Given the description of an element on the screen output the (x, y) to click on. 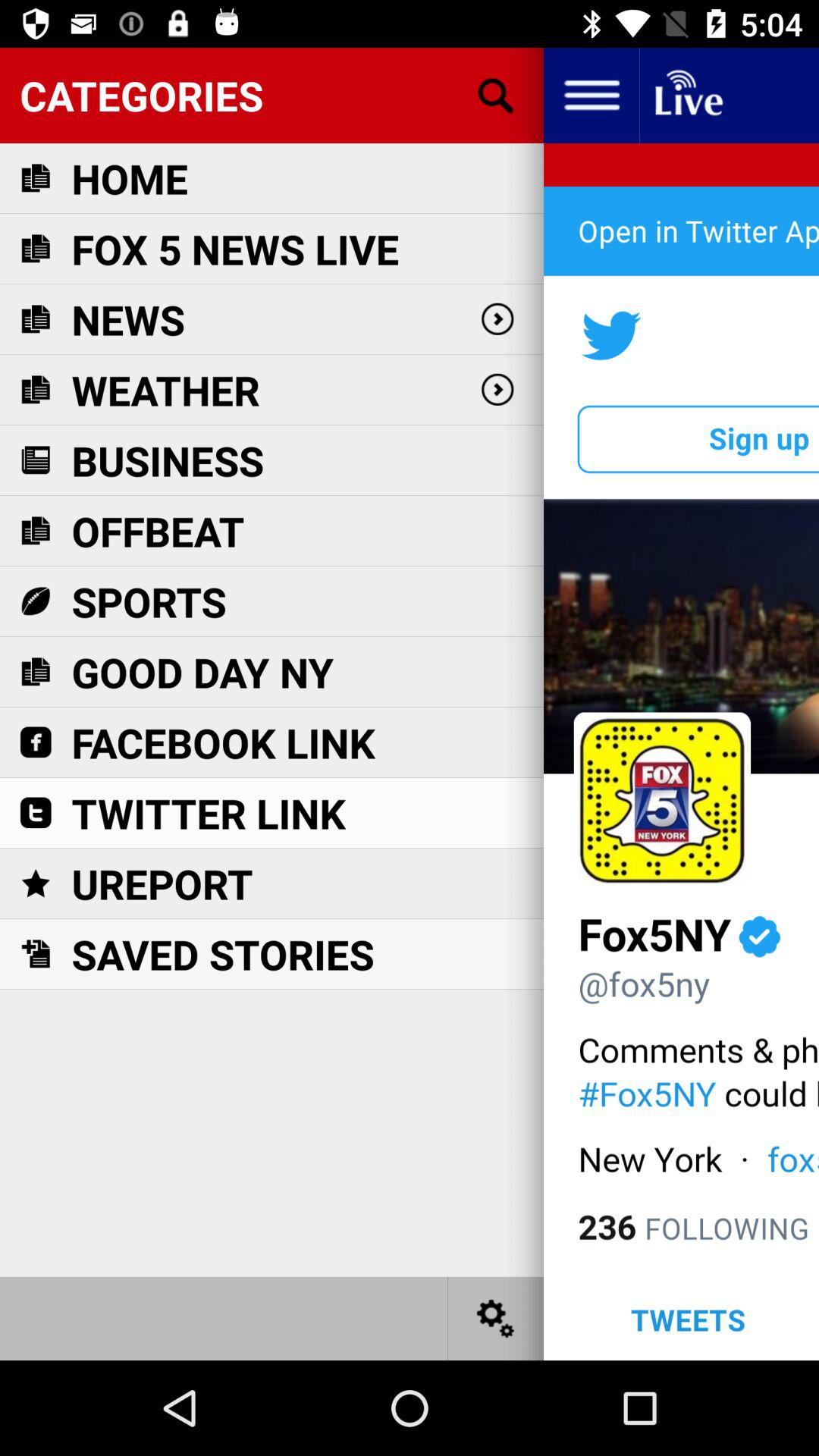
turn on business (167, 459)
